Given the description of an element on the screen output the (x, y) to click on. 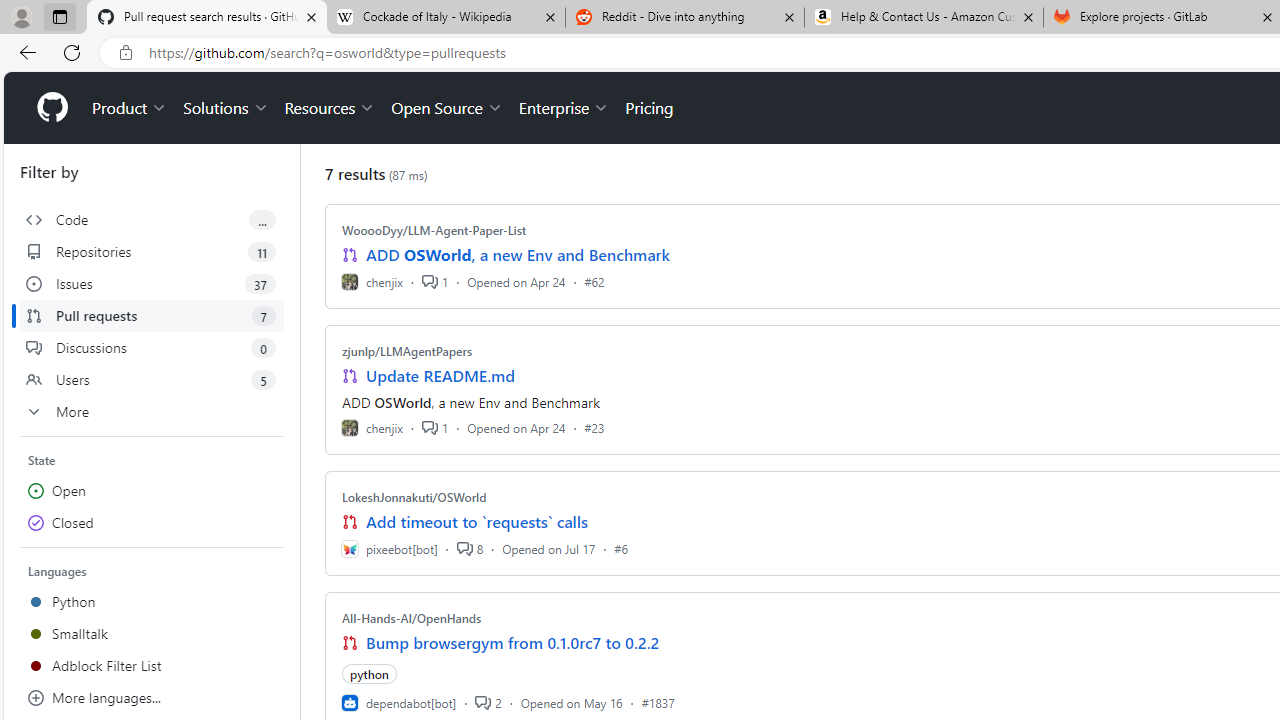
Bump browsergym from 0.1.0rc7 to 0.2.2 (513, 642)
Solutions (225, 107)
#1837 (657, 702)
8 (469, 548)
#62 (594, 281)
ADD OSWorld, a new Env and Benchmark (517, 255)
WooooDyy/LLM-Agent-Paper-List (434, 230)
